Given the description of an element on the screen output the (x, y) to click on. 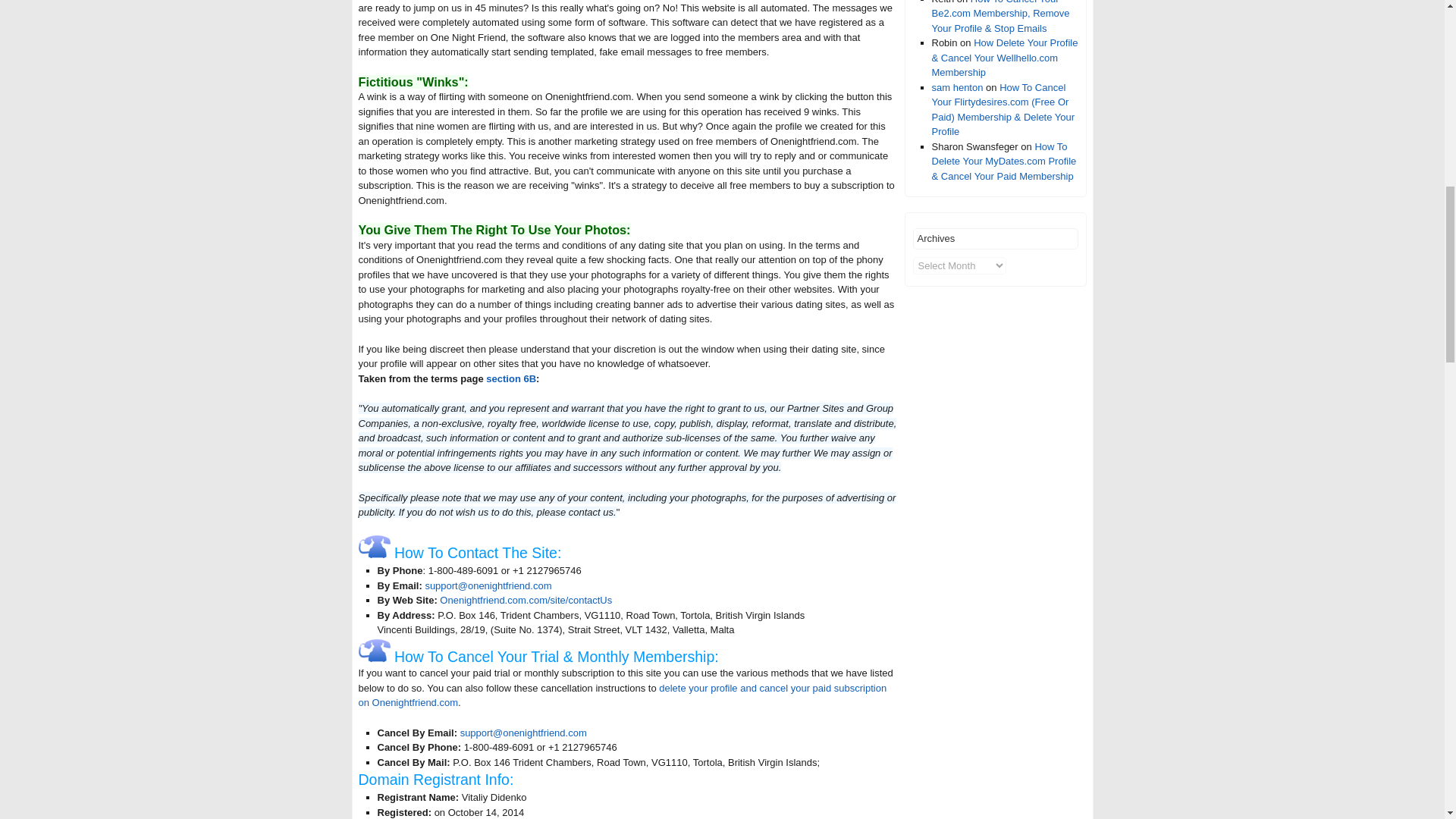
section 6B (510, 378)
